Given the description of an element on the screen output the (x, y) to click on. 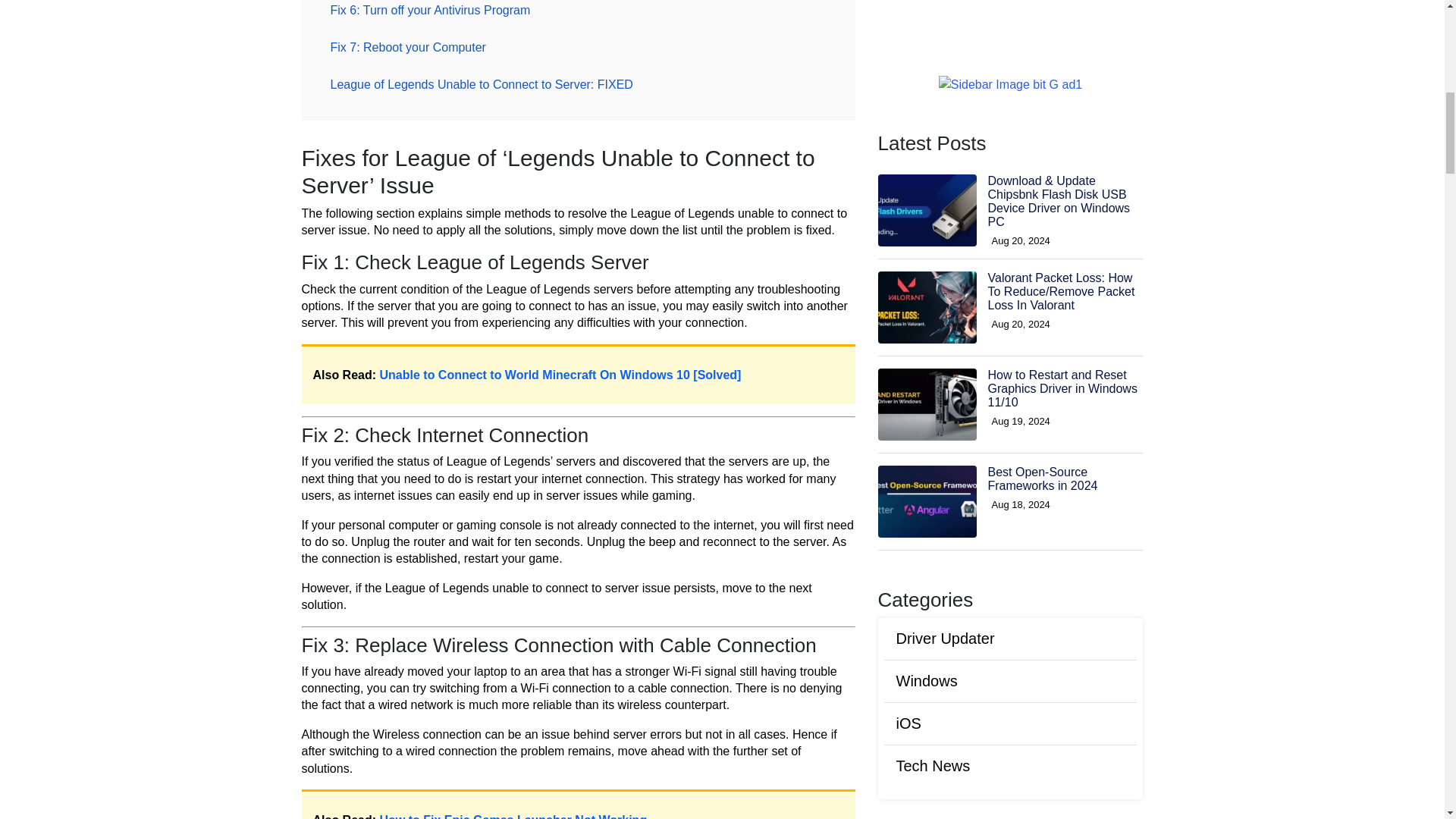
Fix 6: Turn off your Antivirus Program (430, 12)
Fix 7: Reboot your Computer (408, 47)
League of Legends Unable to Connect to Server: FIXED (481, 84)
Subscribe Now (1010, 662)
How to Fix Epic Games Launcher Not Working (513, 816)
